Given the description of an element on the screen output the (x, y) to click on. 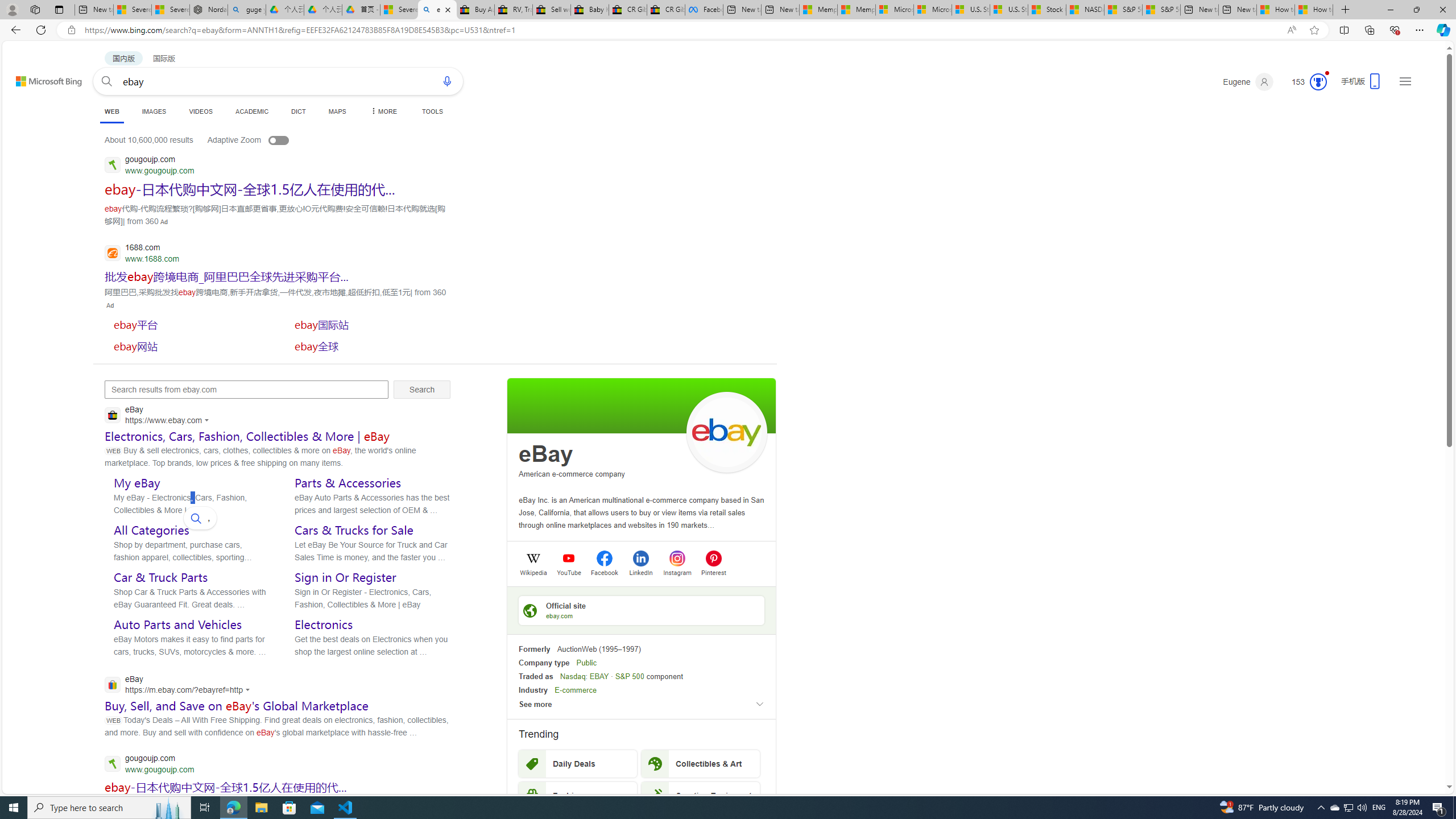
E-commerce (575, 690)
Search results from ebay.com (246, 389)
Back to Bing search (41, 78)
SERP,5721 (225, 786)
MORE (382, 111)
SERP,5713 (370, 324)
Class: medal-circled (1317, 81)
